Given the description of an element on the screen output the (x, y) to click on. 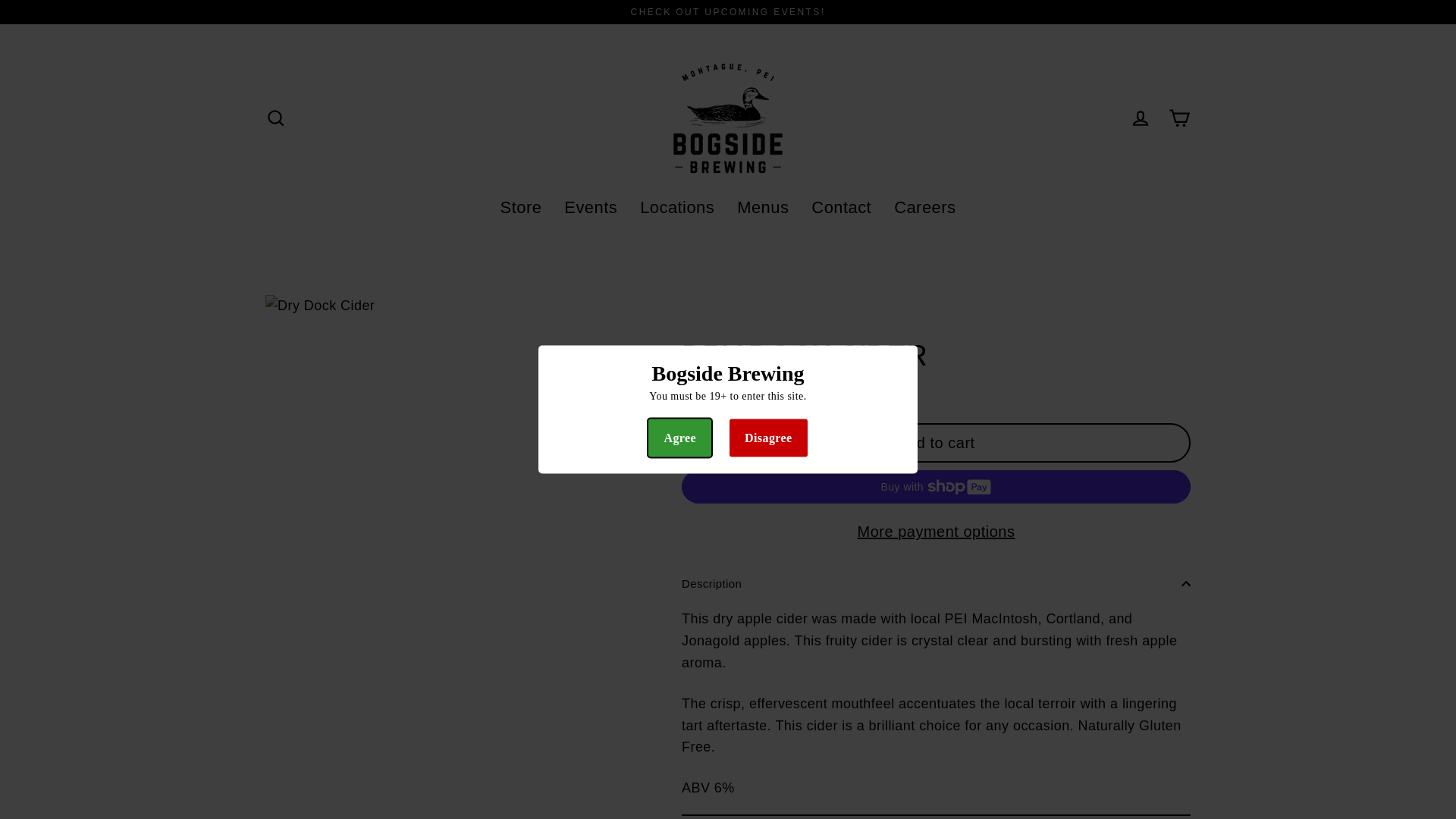
Menus (762, 207)
Cart (1179, 117)
Store (521, 207)
Events (590, 207)
Locations (676, 207)
Log in (1140, 117)
Careers (924, 207)
Search (275, 117)
Contact (840, 207)
